Given the description of an element on the screen output the (x, y) to click on. 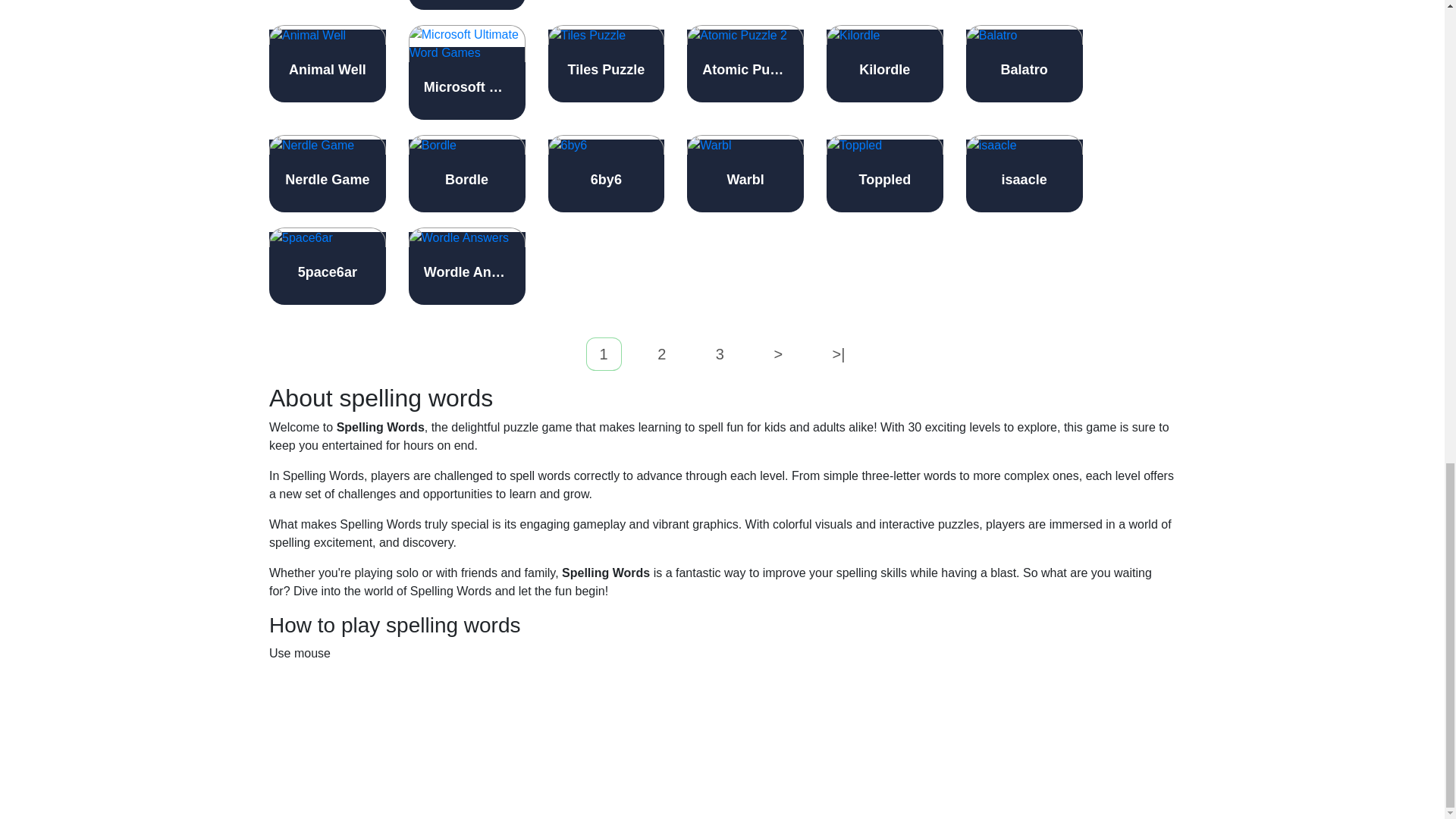
Play Tiles Puzzle (605, 63)
Play Toppled (885, 173)
Play Animal Well (327, 63)
Toppled (885, 173)
Warbl (745, 173)
Play 6by6 (605, 173)
Kilordle (885, 63)
Play Microsoft Ultimate Word Games (467, 72)
Balatro (1024, 63)
Play Warbl (745, 173)
